Given the description of an element on the screen output the (x, y) to click on. 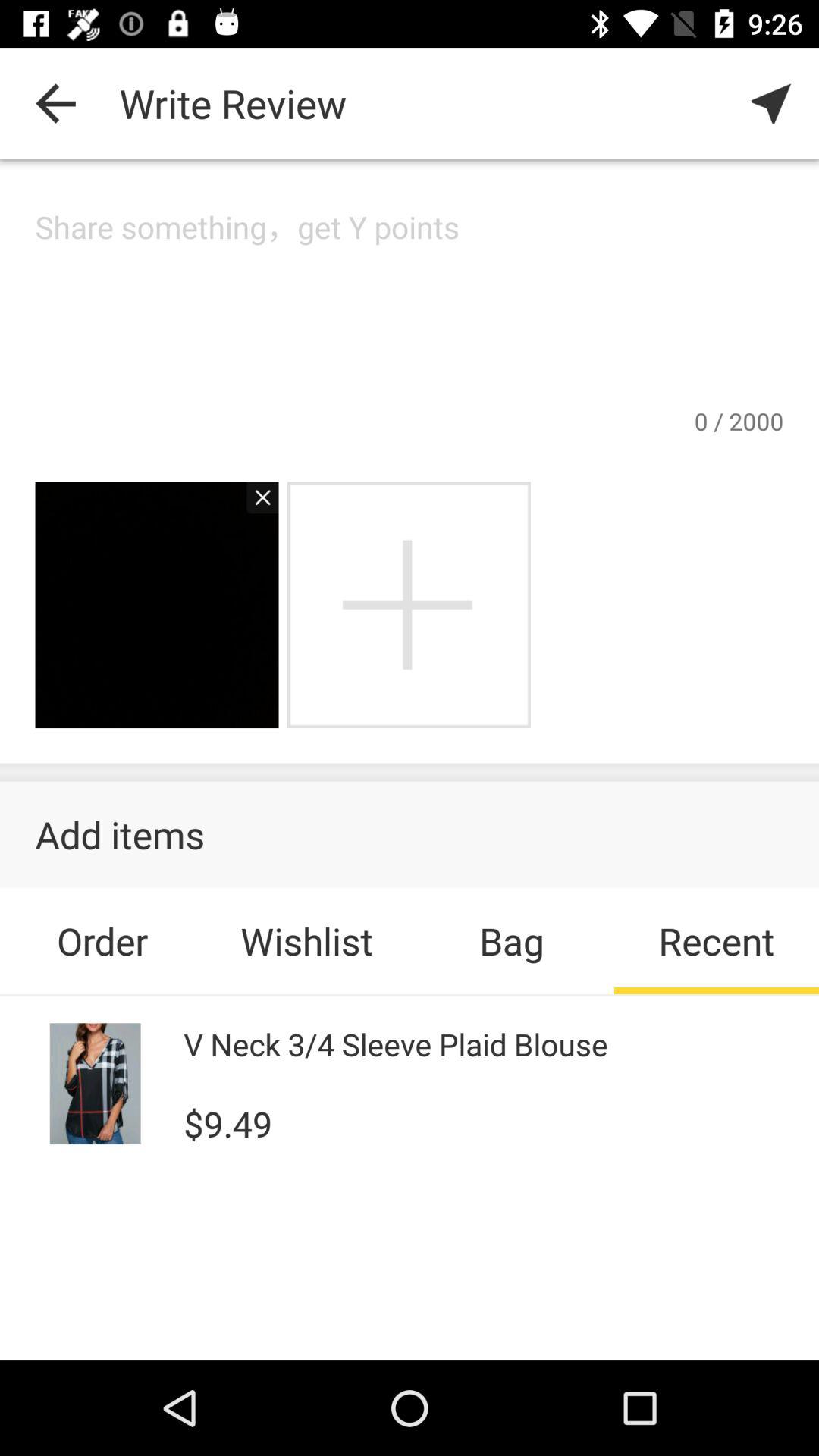
open the item next to the write review app (55, 103)
